Given the description of an element on the screen output the (x, y) to click on. 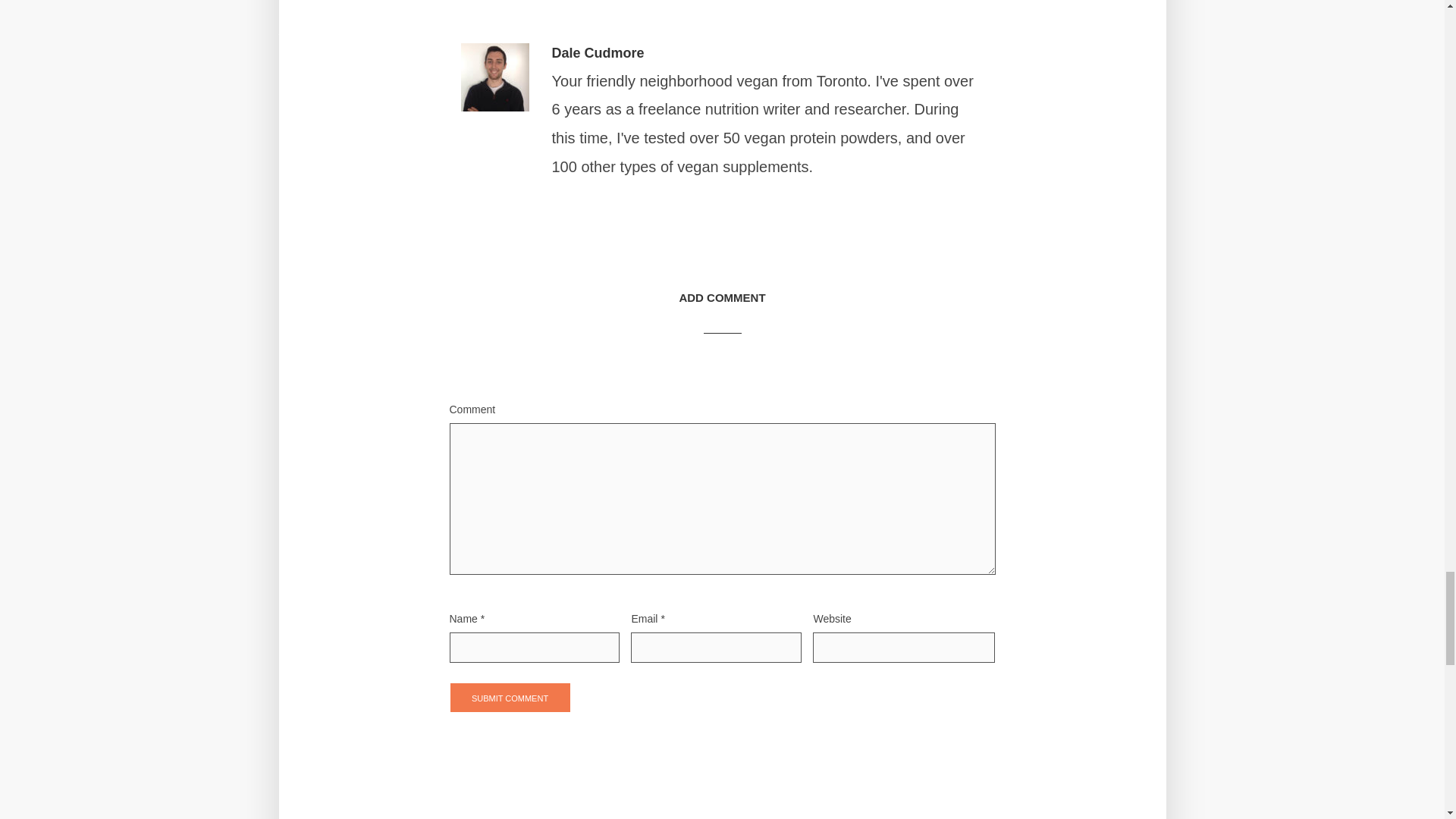
Dale Cudmore (598, 52)
Submit Comment (509, 697)
Submit Comment (509, 697)
